Given the description of an element on the screen output the (x, y) to click on. 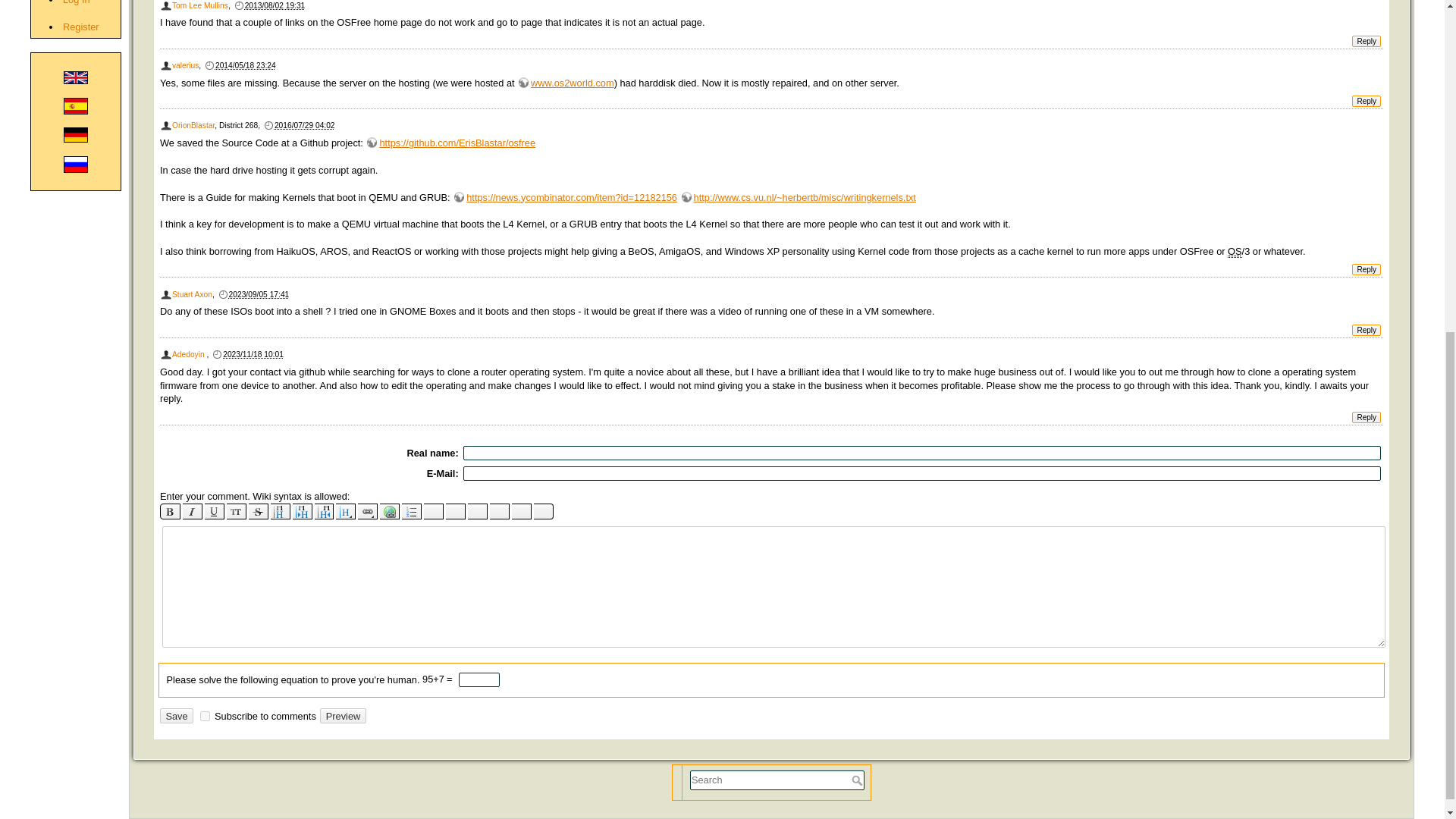
Reply (1366, 101)
Reply (1366, 417)
on (204, 716)
Save (176, 715)
Reply (1366, 41)
Reply (1366, 269)
Log In (76, 2)
Register (80, 26)
Preview (342, 715)
Reply (1366, 329)
